Given the description of an element on the screen output the (x, y) to click on. 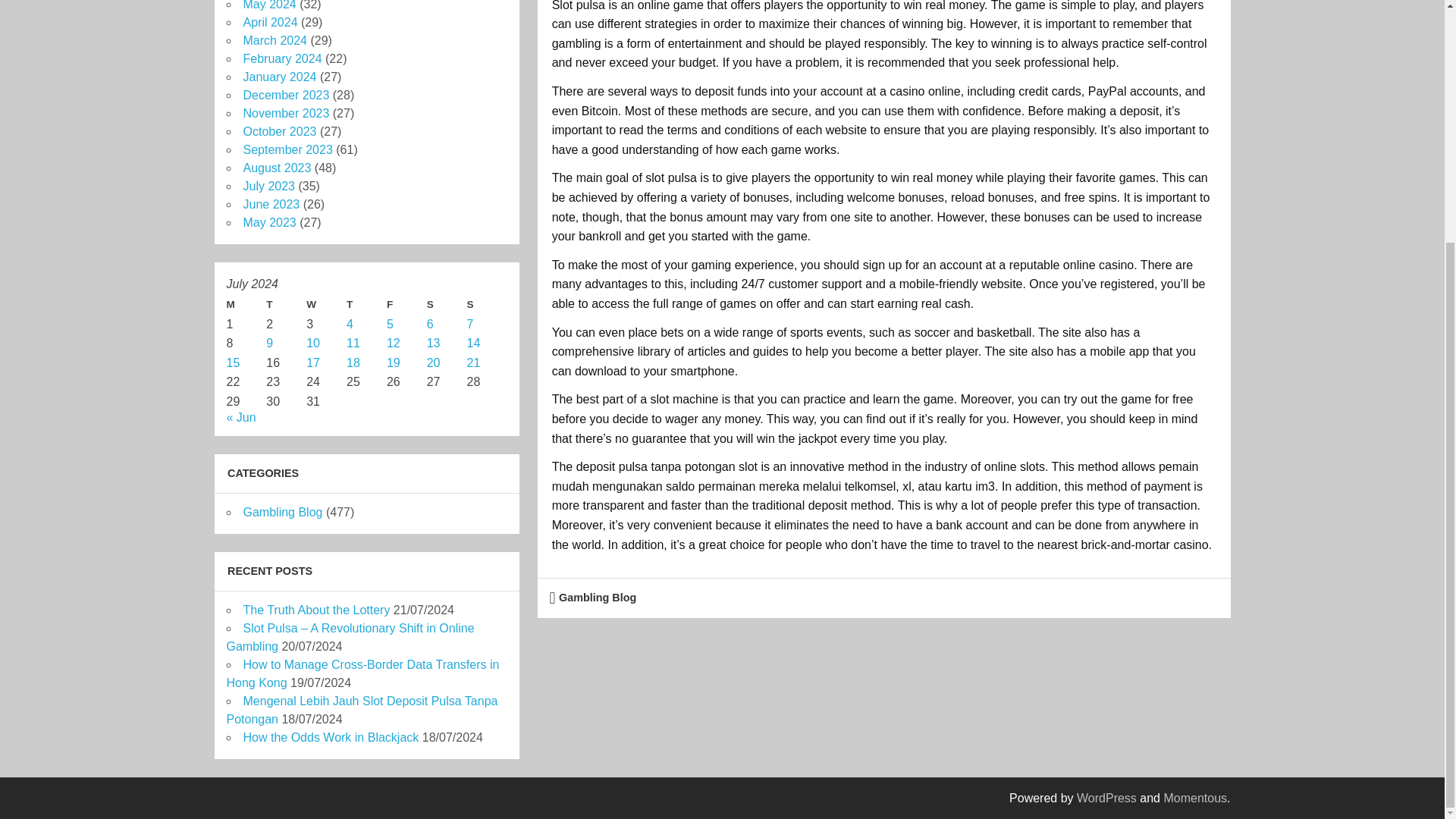
Friday (406, 304)
14 (473, 342)
13 (433, 342)
21 (473, 362)
Thursday (366, 304)
October 2023 (279, 131)
Gambling Blog (597, 597)
December 2023 (286, 94)
September 2023 (287, 149)
Momentous WordPress Theme (1195, 797)
Wednesday (325, 304)
August 2023 (277, 167)
November 2023 (286, 113)
April 2024 (270, 21)
18 (352, 362)
